Given the description of an element on the screen output the (x, y) to click on. 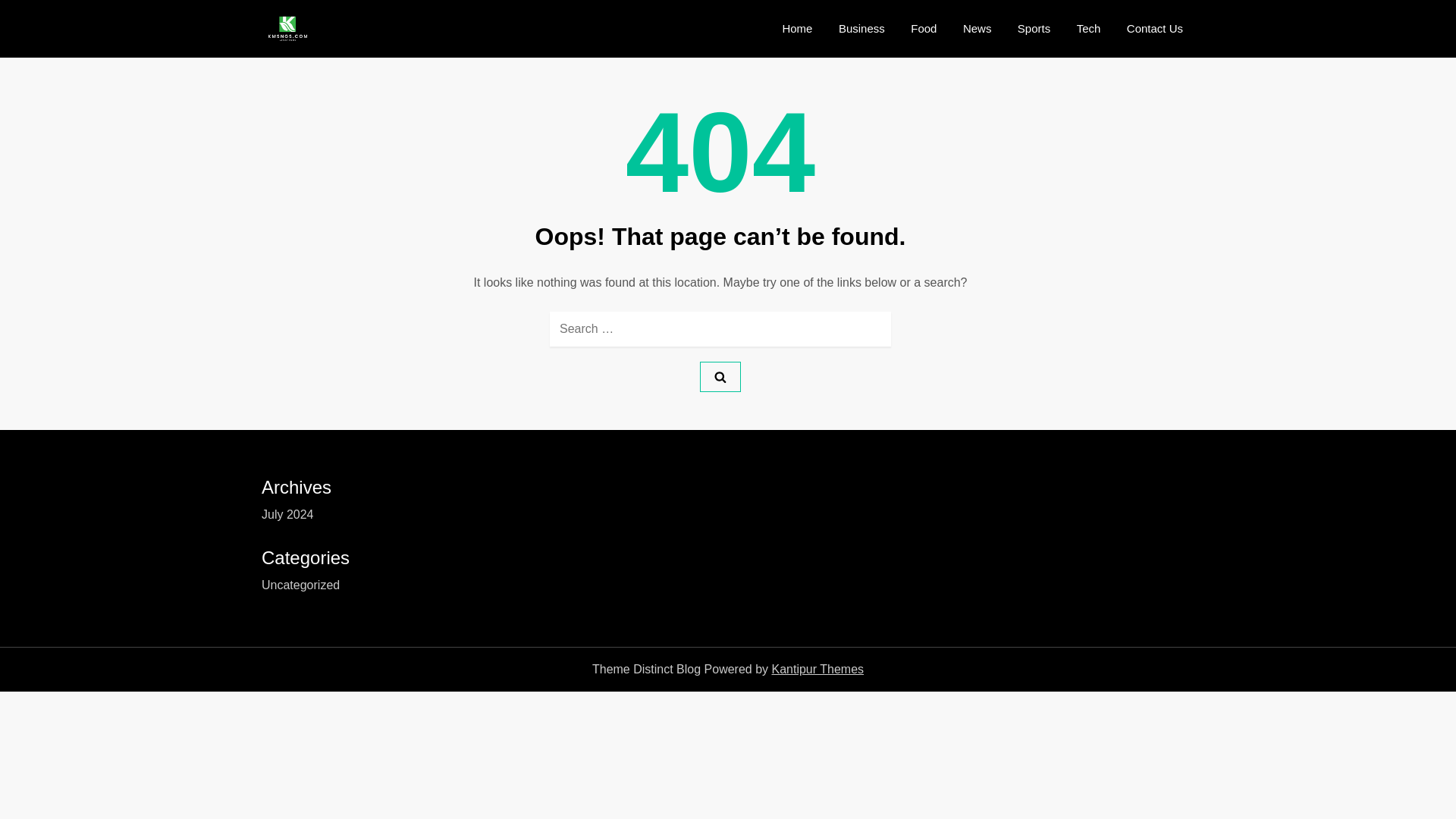
Business (861, 28)
Uncategorized (300, 585)
Sports (1033, 28)
Home (797, 28)
July 2024 (288, 514)
Search (720, 376)
Contact Us (1154, 28)
Kantipur Themes (817, 668)
Food (923, 28)
Tech (1088, 28)
News (977, 28)
kmsngs (353, 41)
